Given the description of an element on the screen output the (x, y) to click on. 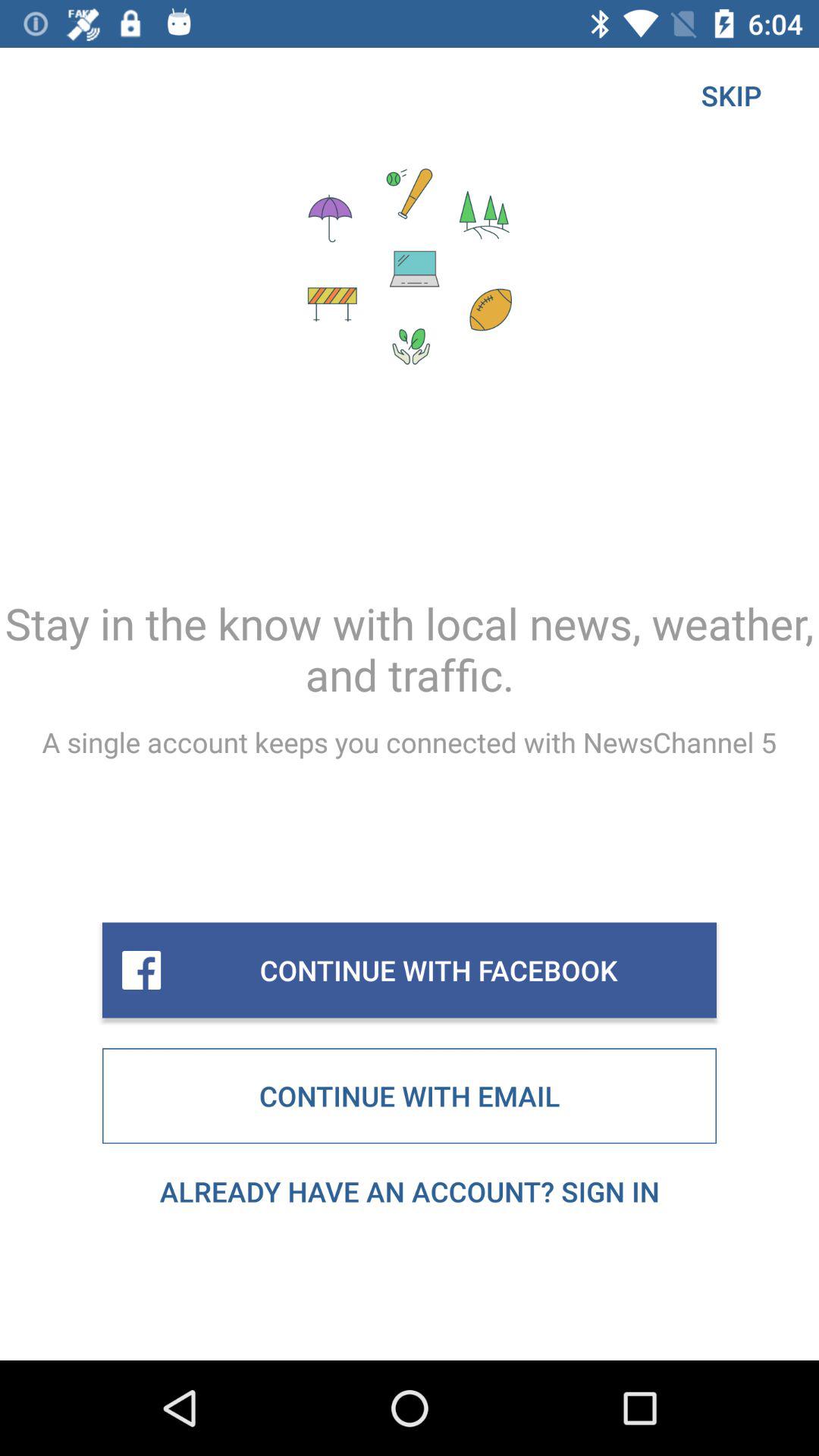
turn off the icon at the top right corner (731, 95)
